Given the description of an element on the screen output the (x, y) to click on. 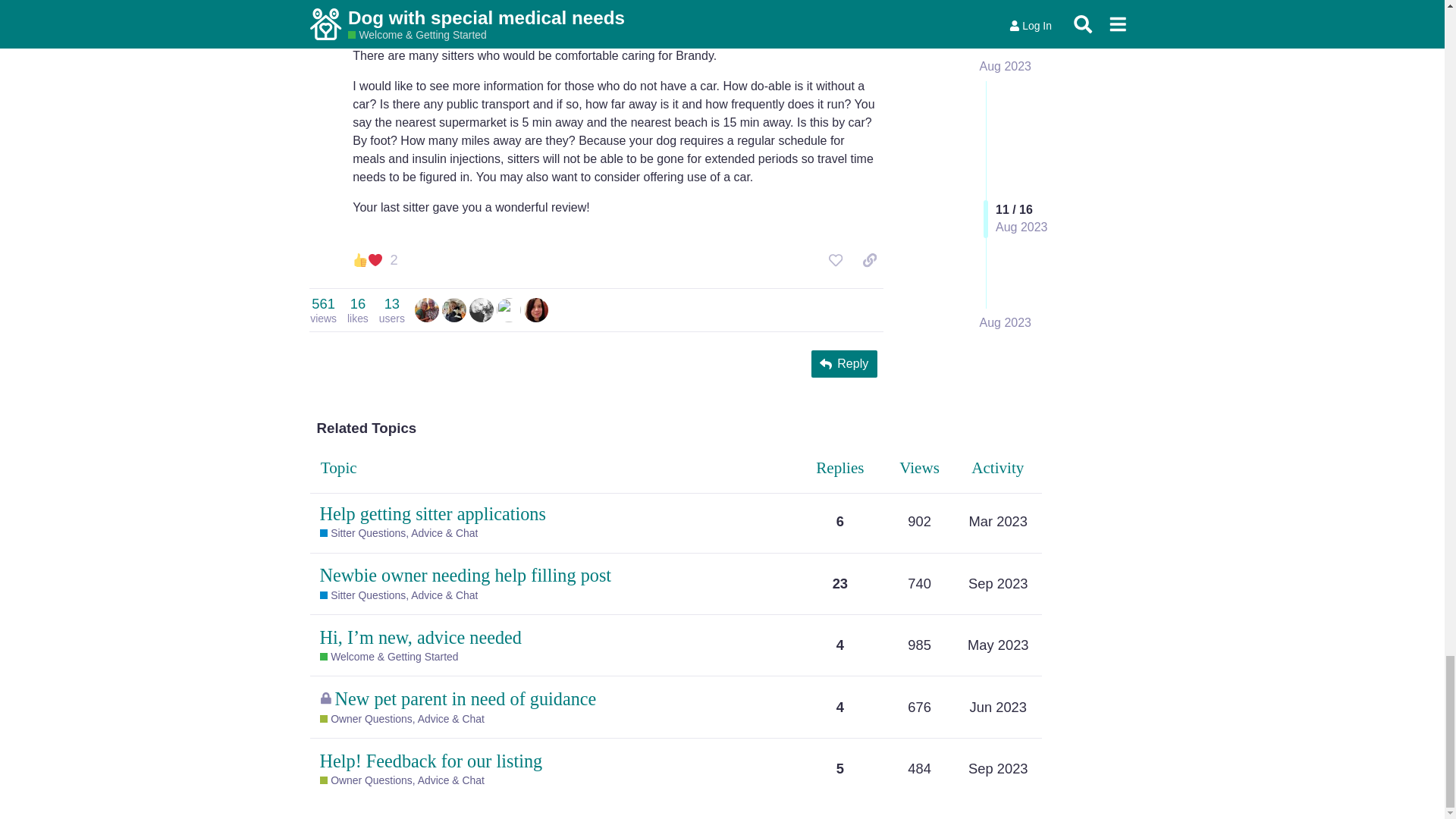
WendyNL (392, 309)
Carla (536, 310)
Carla (453, 308)
Amparo (453, 310)
Amparo (480, 310)
Samox24 (322, 309)
Samox24 (480, 308)
DENISE64 (508, 308)
